Given the description of an element on the screen output the (x, y) to click on. 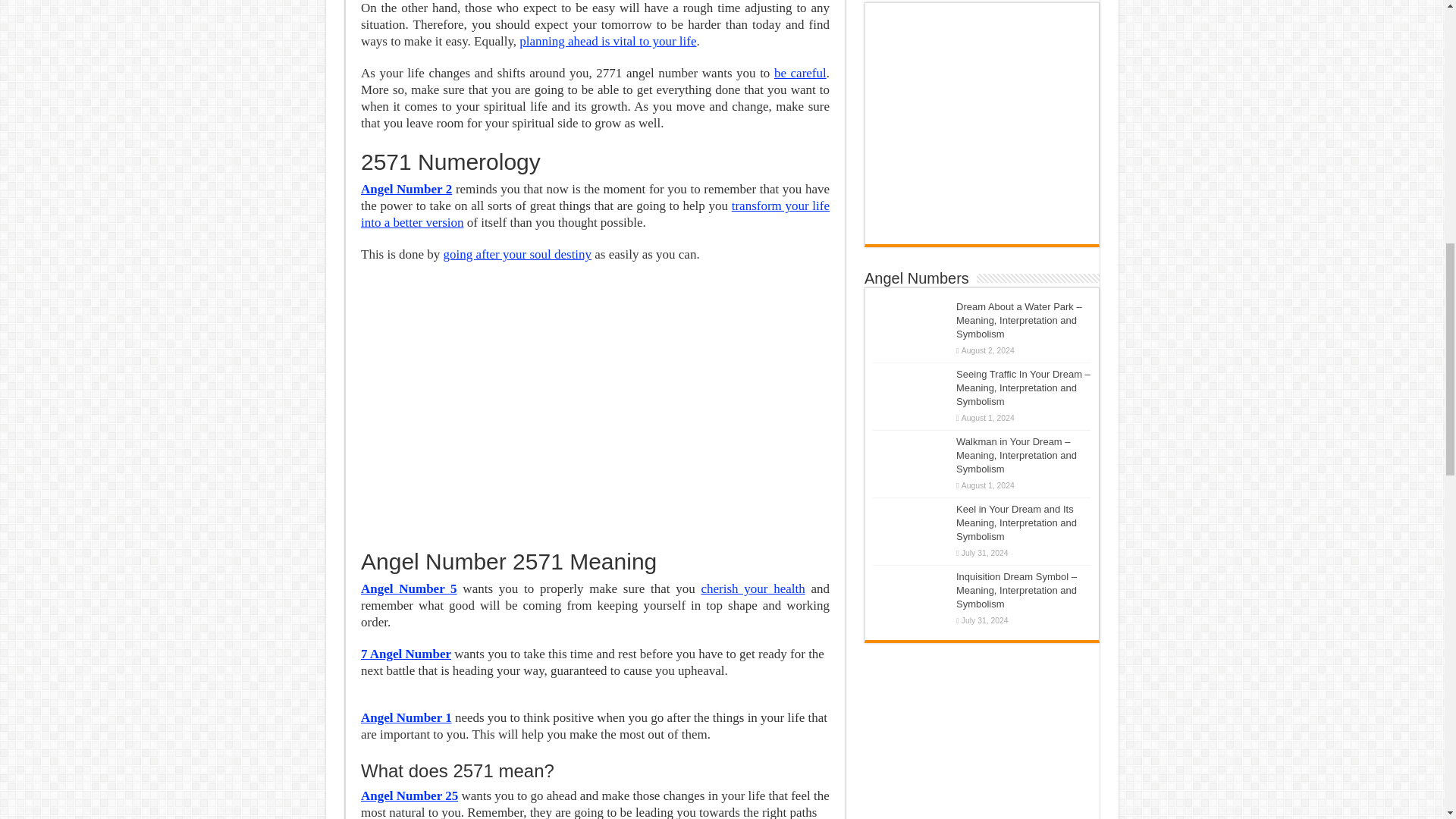
going after your soul destiny (517, 254)
planning ahead is vital to your life (607, 41)
Angel Number 2 (406, 188)
cherish your health (752, 588)
be careful (800, 73)
Angel Number 5 (409, 588)
Angel Number 1 (406, 717)
transform your life into a better version (595, 214)
Angel Number 25 (409, 795)
7 Angel Number (406, 653)
